Given the description of an element on the screen output the (x, y) to click on. 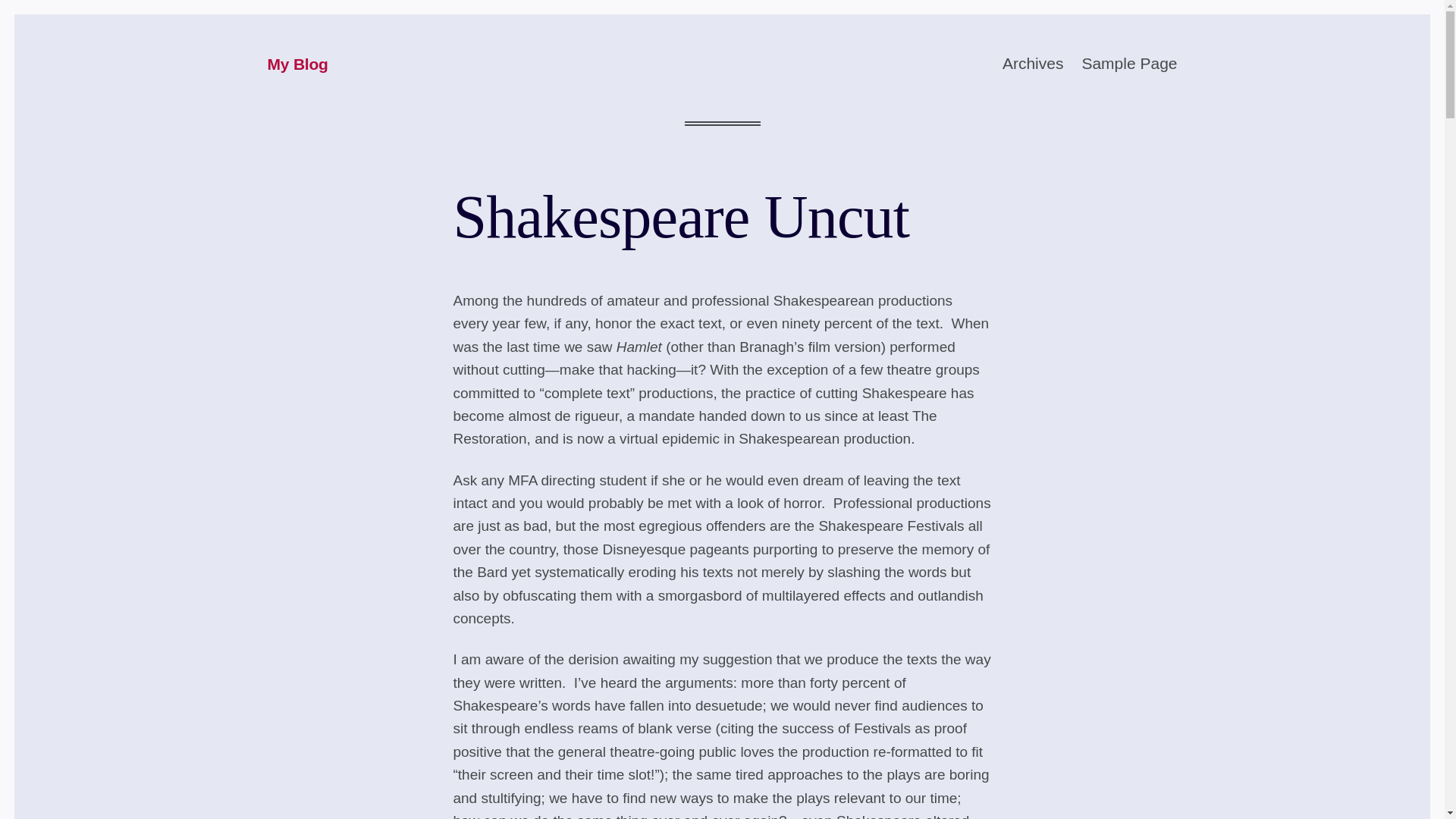
Sample Page (1128, 63)
My Blog (296, 64)
Archives (1033, 63)
